Given the description of an element on the screen output the (x, y) to click on. 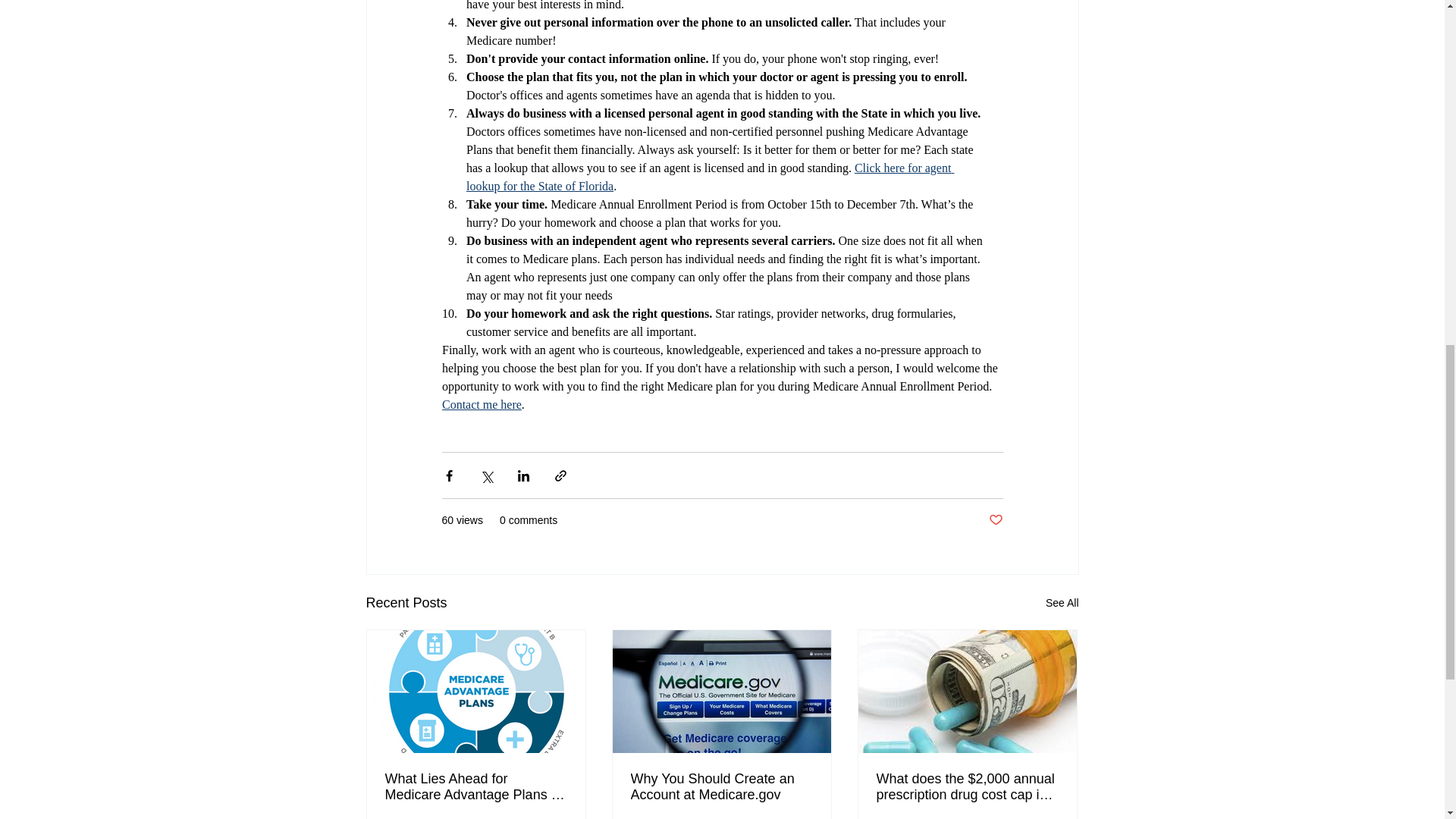
Click here for agent lookup for the State of Florida (709, 176)
Why You Should Create an Account at Medicare.gov (721, 787)
Contact me here (481, 404)
Post not marked as liked (995, 520)
See All (1061, 603)
What Lies Ahead for Medicare Advantage Plans in 2025? (476, 787)
